Given the description of an element on the screen output the (x, y) to click on. 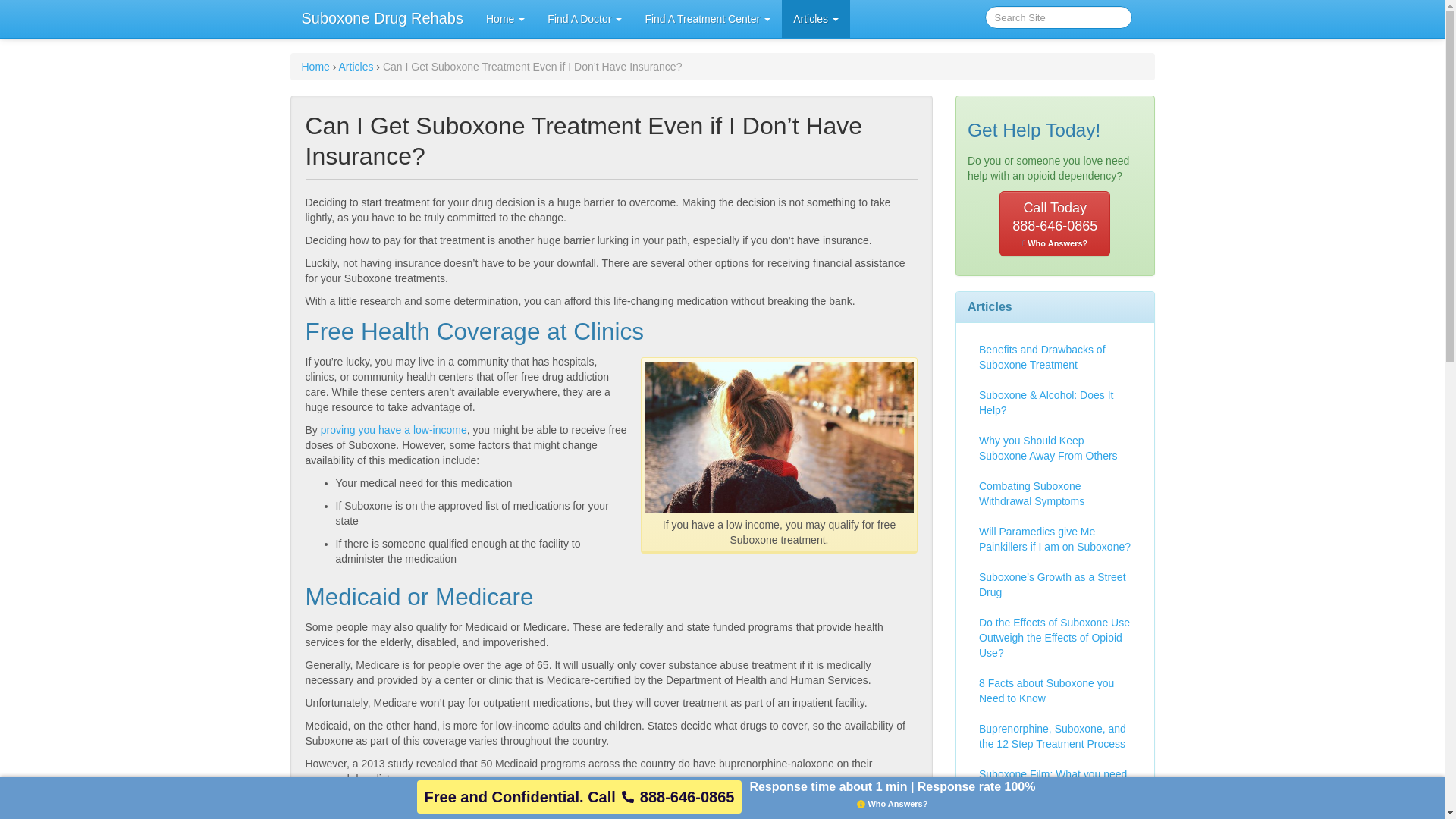
proving you have a low-income (393, 429)
Why you Should Keep Suboxone Away From Others (1055, 447)
Find A Treatment Center (1053, 223)
Find A Doctor (707, 18)
Home (584, 18)
Home (504, 18)
Combating Suboxone Withdrawal Symptoms (315, 66)
Benefits and Drawbacks of Suboxone Treatment (1055, 493)
Articles (1055, 357)
Will Paramedics give Me Painkillers if I am on Suboxone? (356, 66)
Suboxone Drug Rehabs (1055, 538)
Articles (381, 18)
